Given the description of an element on the screen output the (x, y) to click on. 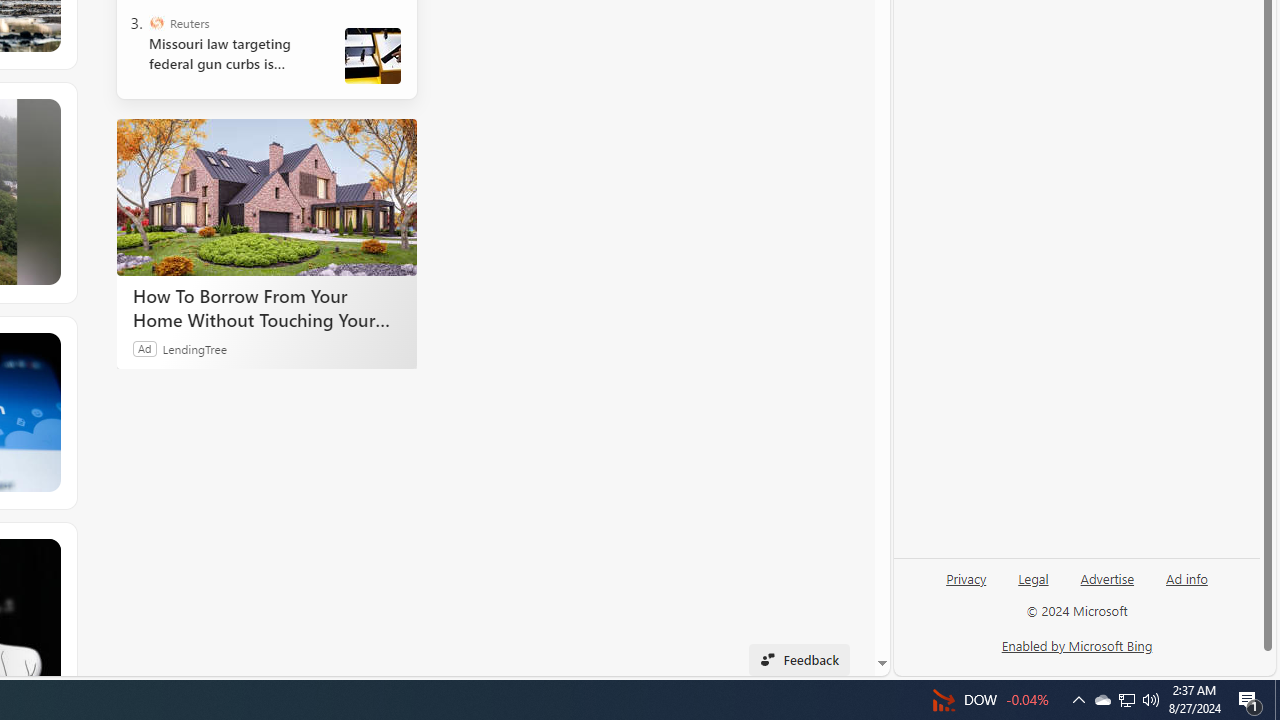
Advertise (1107, 577)
Advertise (1106, 586)
Feedback (798, 659)
